Given the description of an element on the screen output the (x, y) to click on. 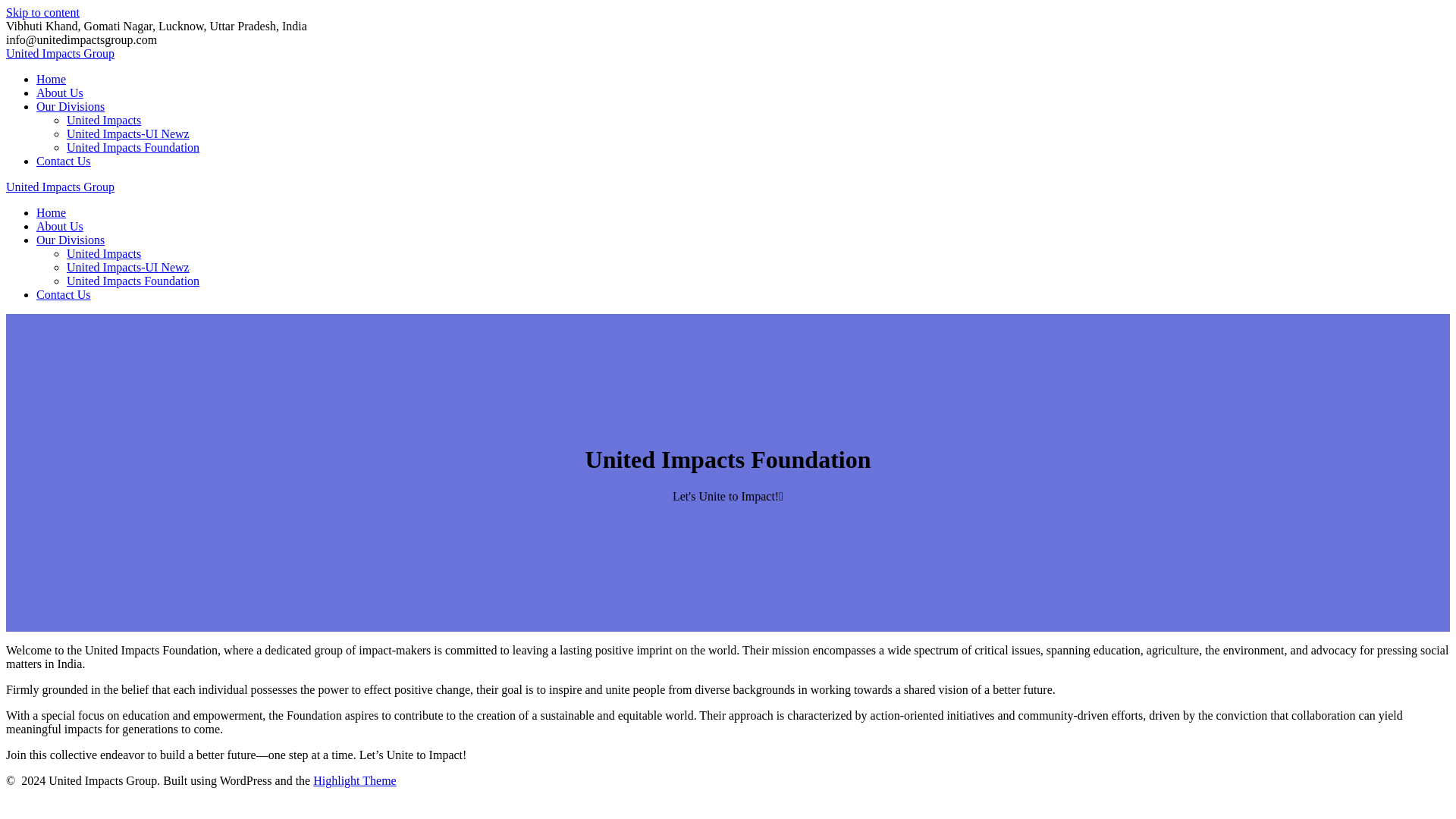
About Us (59, 92)
Home (50, 212)
United Impacts Group (60, 52)
Contact Us (63, 160)
United Impacts-UI Newz (127, 133)
About Us (59, 226)
Contact Us (63, 294)
United Impacts (103, 253)
Skip to content (42, 11)
United Impacts (103, 119)
